Given the description of an element on the screen output the (x, y) to click on. 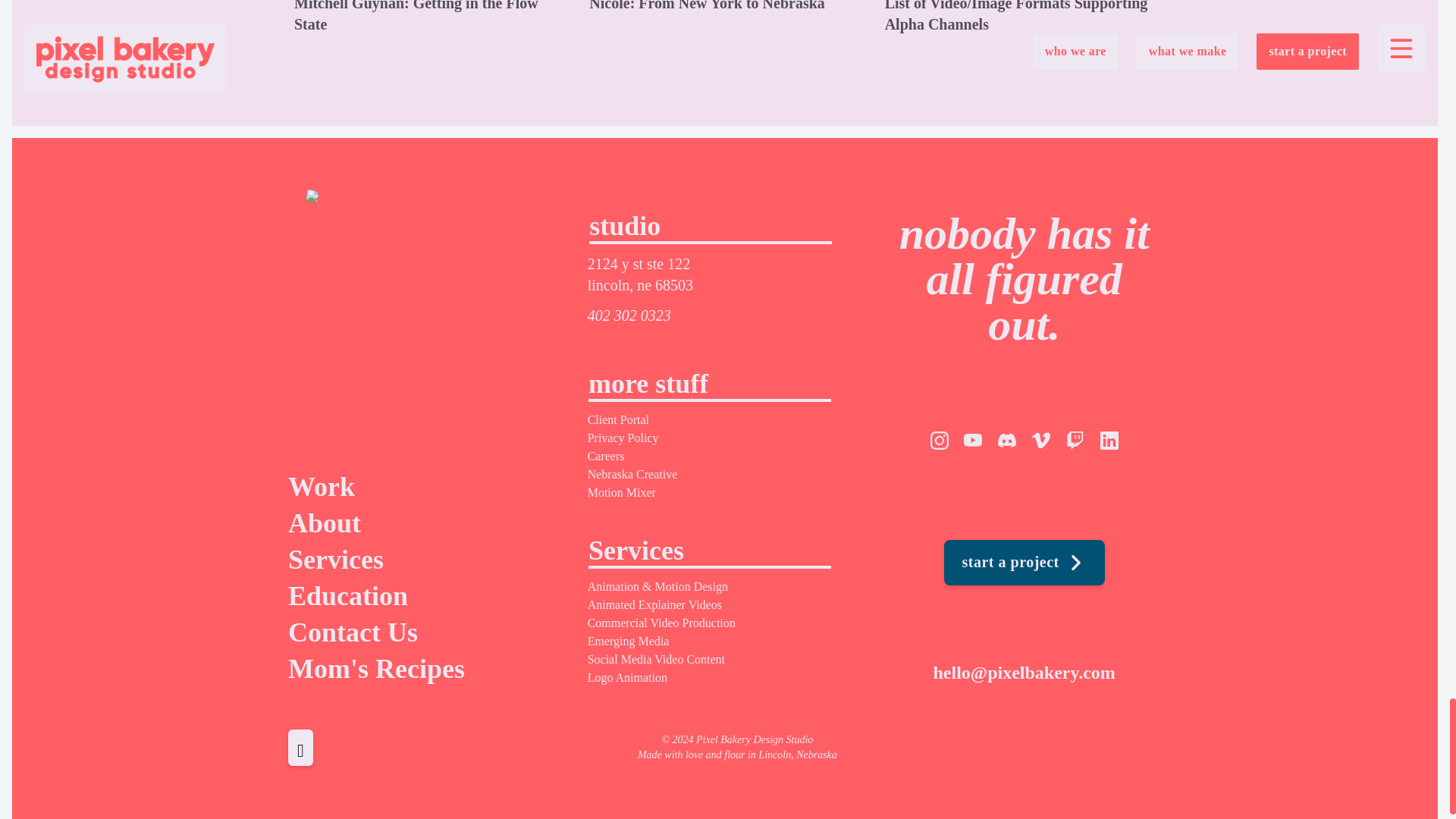
Motion Mixer (622, 492)
Education (425, 595)
Services (425, 559)
Commercial Video Production (661, 622)
Social Media Video Content (656, 658)
402 302 0323 (629, 315)
Home (425, 315)
Careers (606, 455)
Contact Us (425, 632)
Work (425, 486)
